Given the description of an element on the screen output the (x, y) to click on. 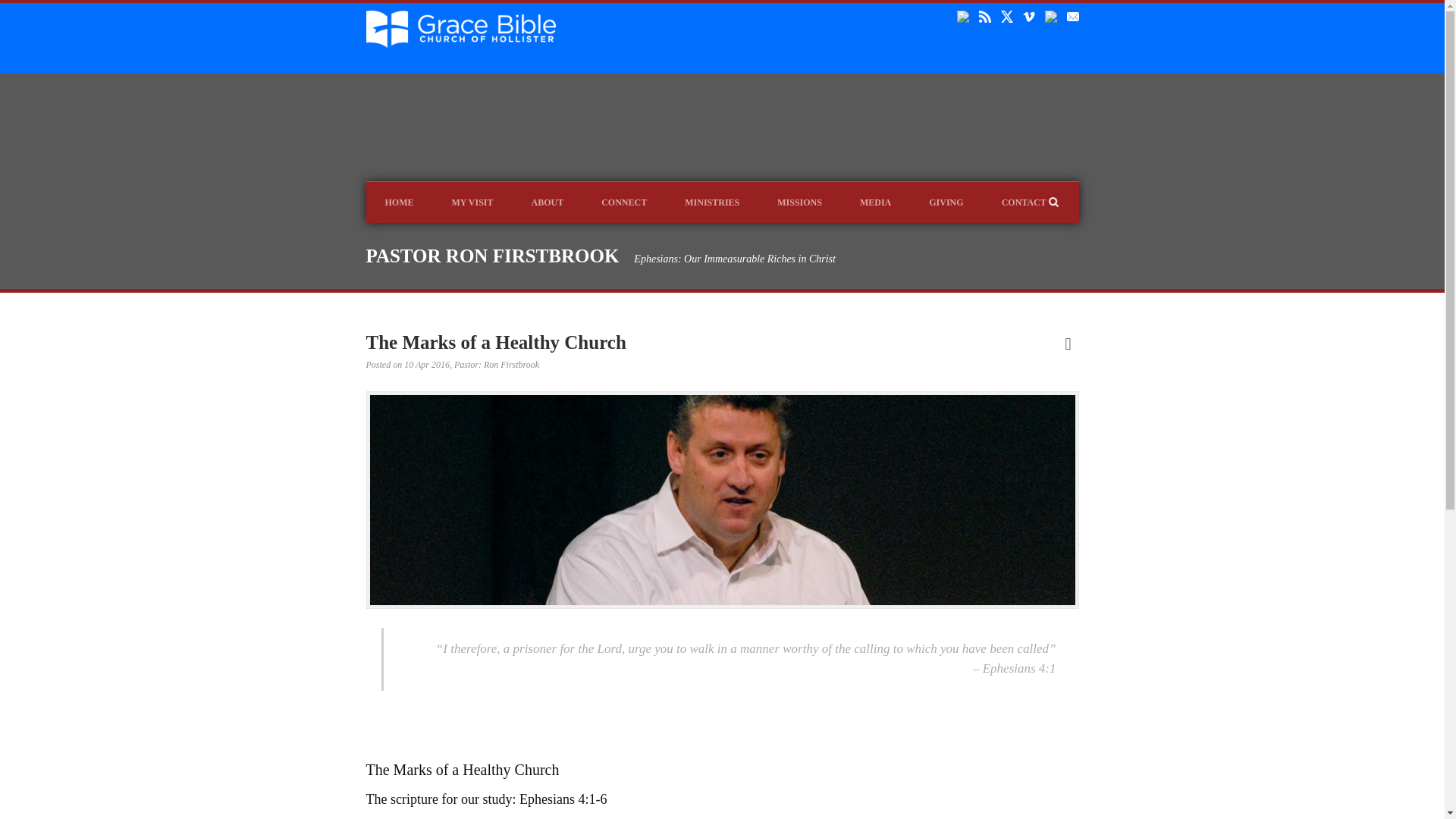
MISSIONS (799, 201)
CONNECT (623, 201)
ABOUT (547, 201)
MINISTRIES (711, 201)
MEDIA (875, 201)
MY VISIT (472, 201)
HOME (398, 201)
